Given the description of an element on the screen output the (x, y) to click on. 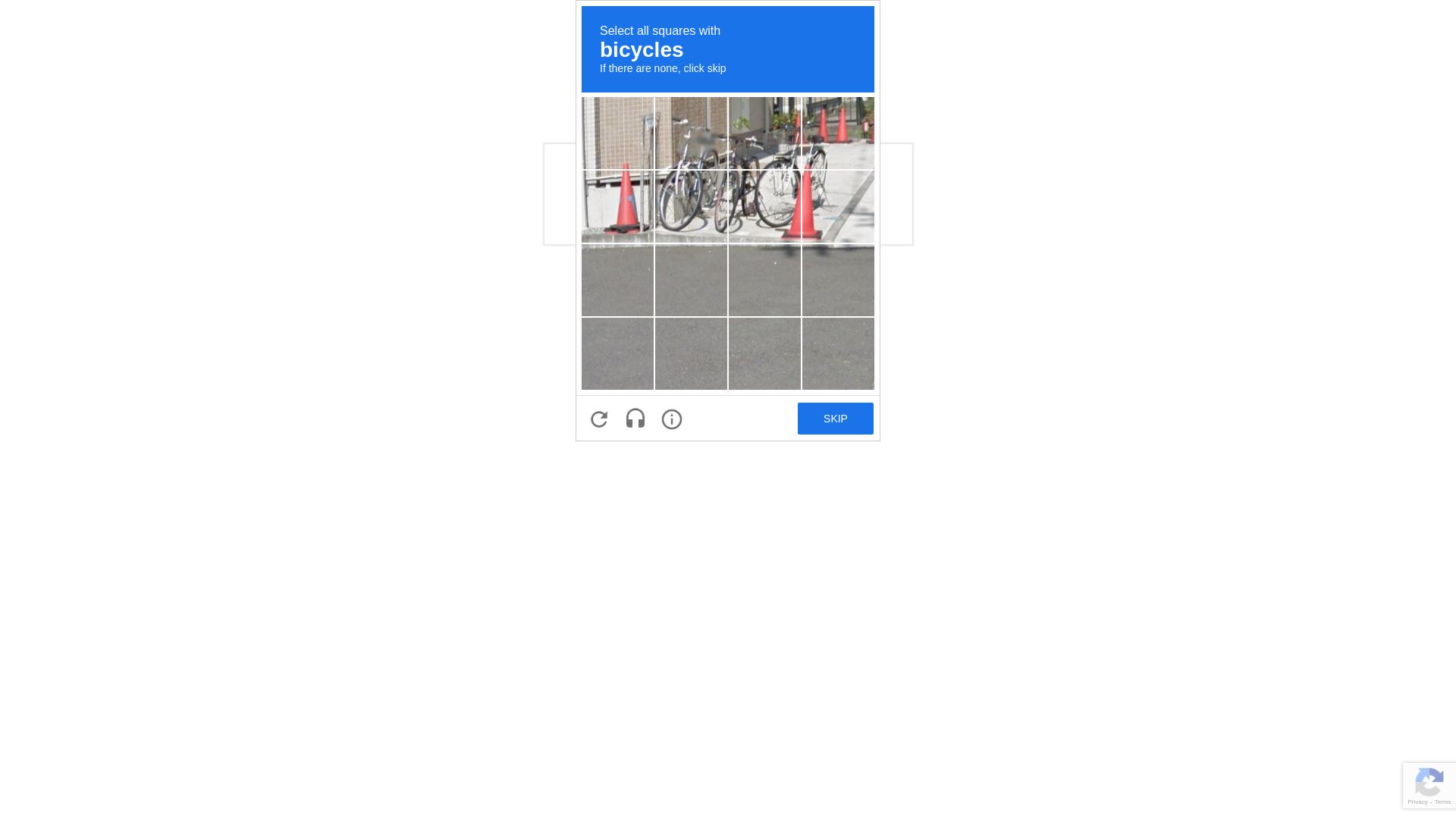
recaptcha challenge expires in two minutes Element type: hover (727, 220)
